Given the description of an element on the screen output the (x, y) to click on. 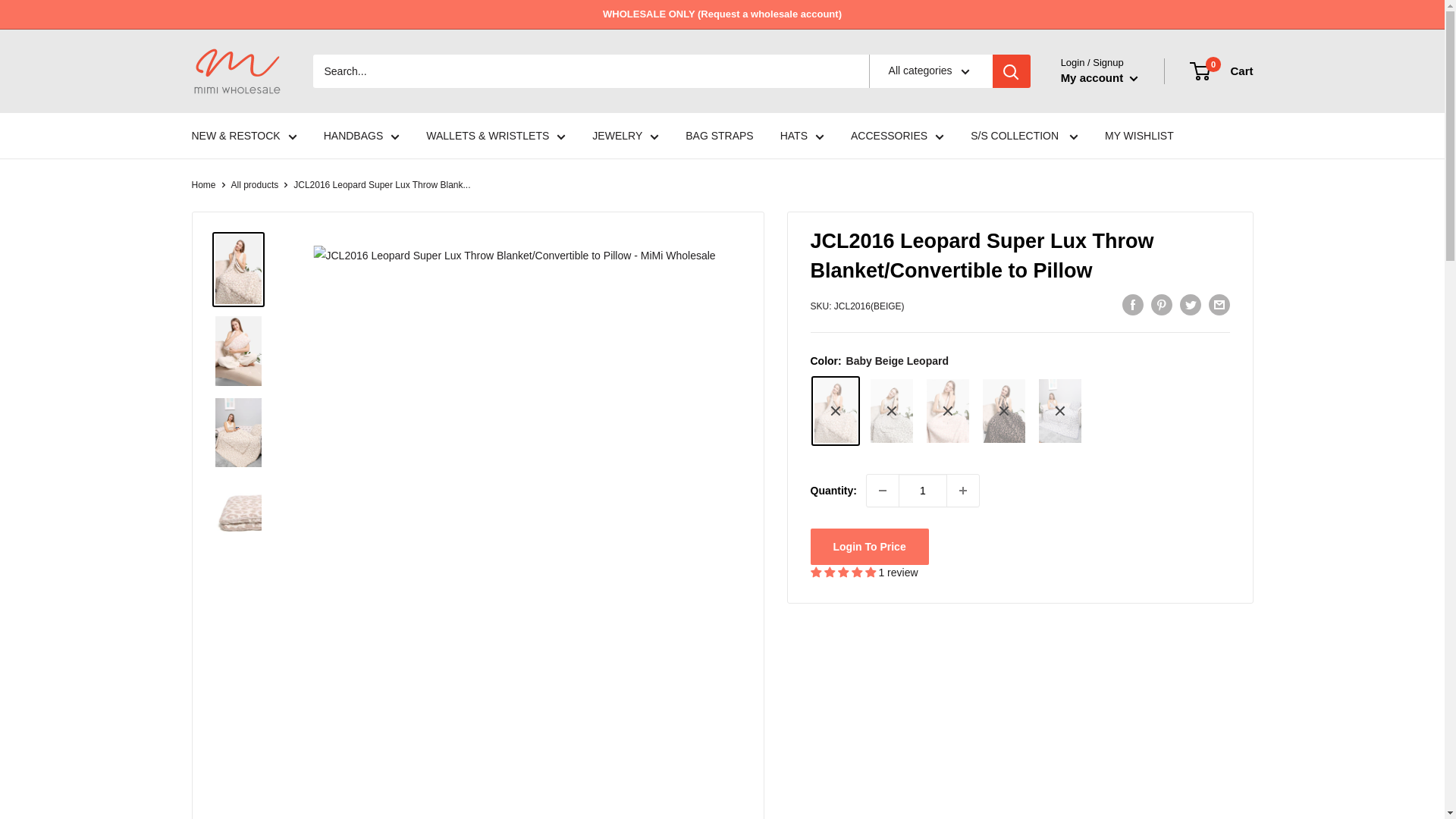
1 (922, 490)
